Given the description of an element on the screen output the (x, y) to click on. 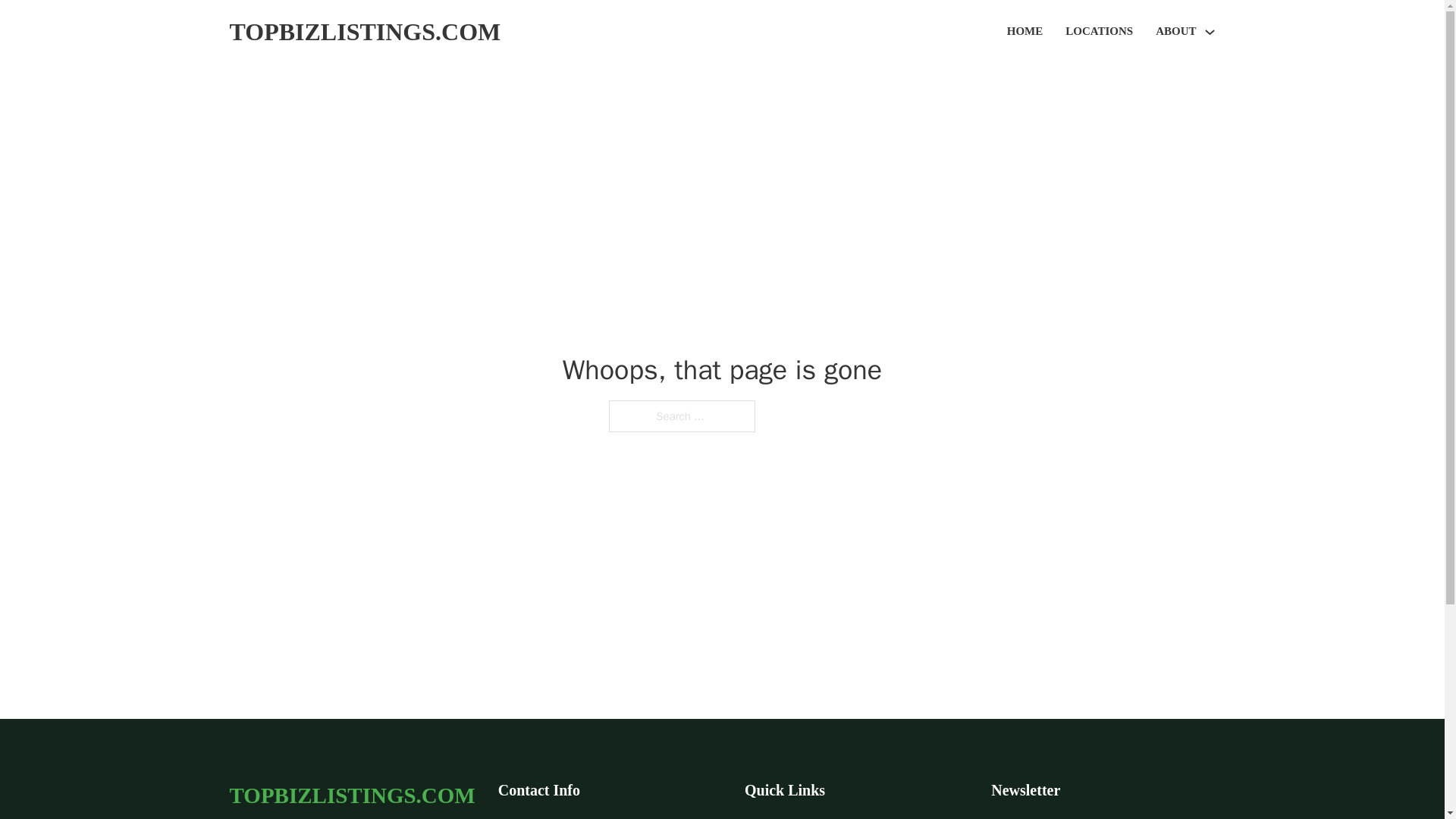
LOCATIONS (1098, 31)
TOPBIZLISTINGS.COM (351, 795)
HOME (1025, 31)
TOPBIZLISTINGS.COM (364, 31)
